Given the description of an element on the screen output the (x, y) to click on. 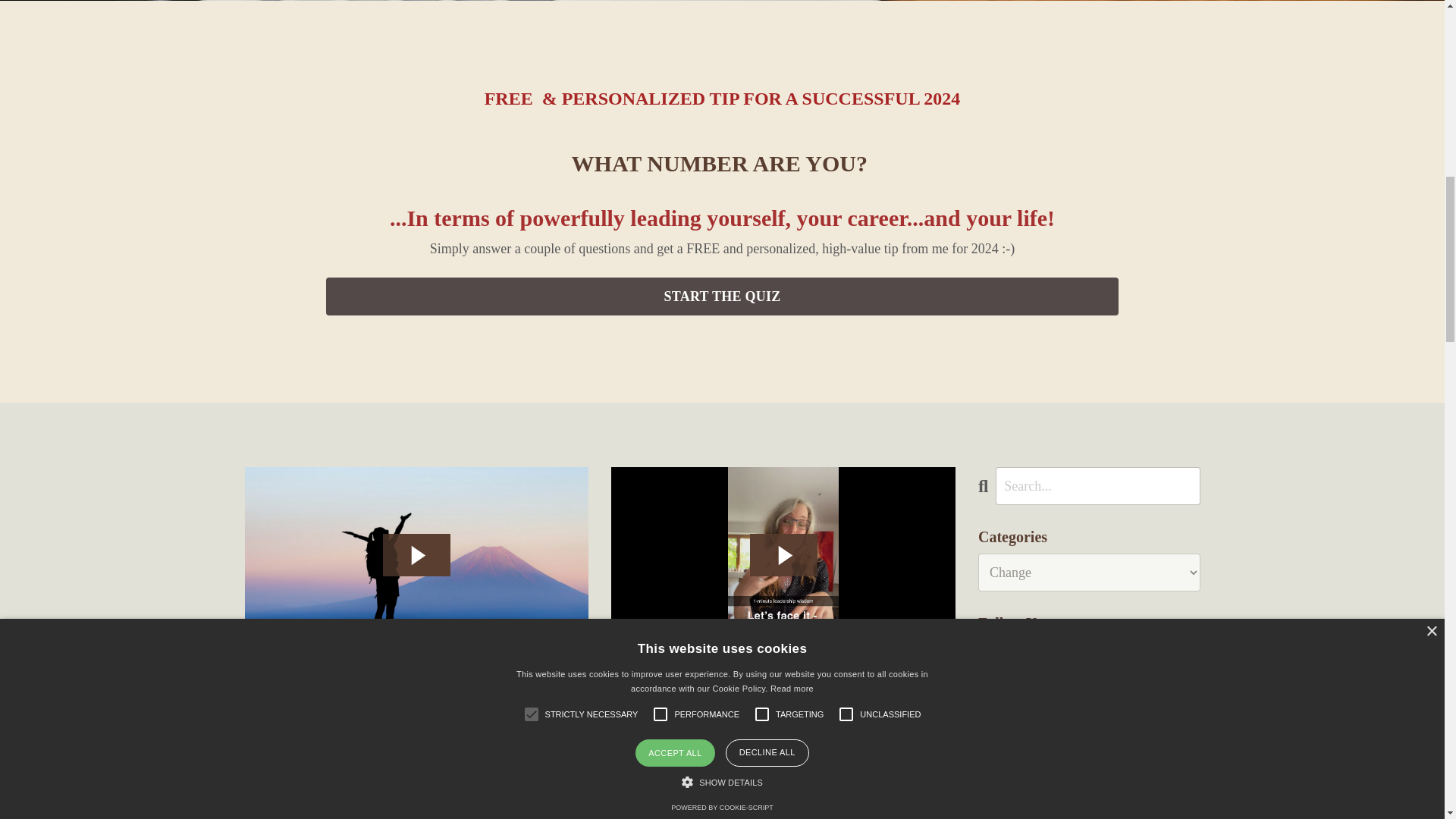
"After A Certain Age You Can't Change Anymore" (416, 703)
Awareness (296, 748)
START THE QUIZ (722, 296)
Change (341, 748)
Personal Leadership (406, 748)
Show settings menu (923, 652)
1-Minute Leadership Wisdom: Nobody Likes Change (783, 703)
Change (743, 748)
1-Minute-Leadership Wisdom (664, 748)
Video (782, 748)
Show settings menu (556, 652)
Age (255, 748)
